Given the description of an element on the screen output the (x, y) to click on. 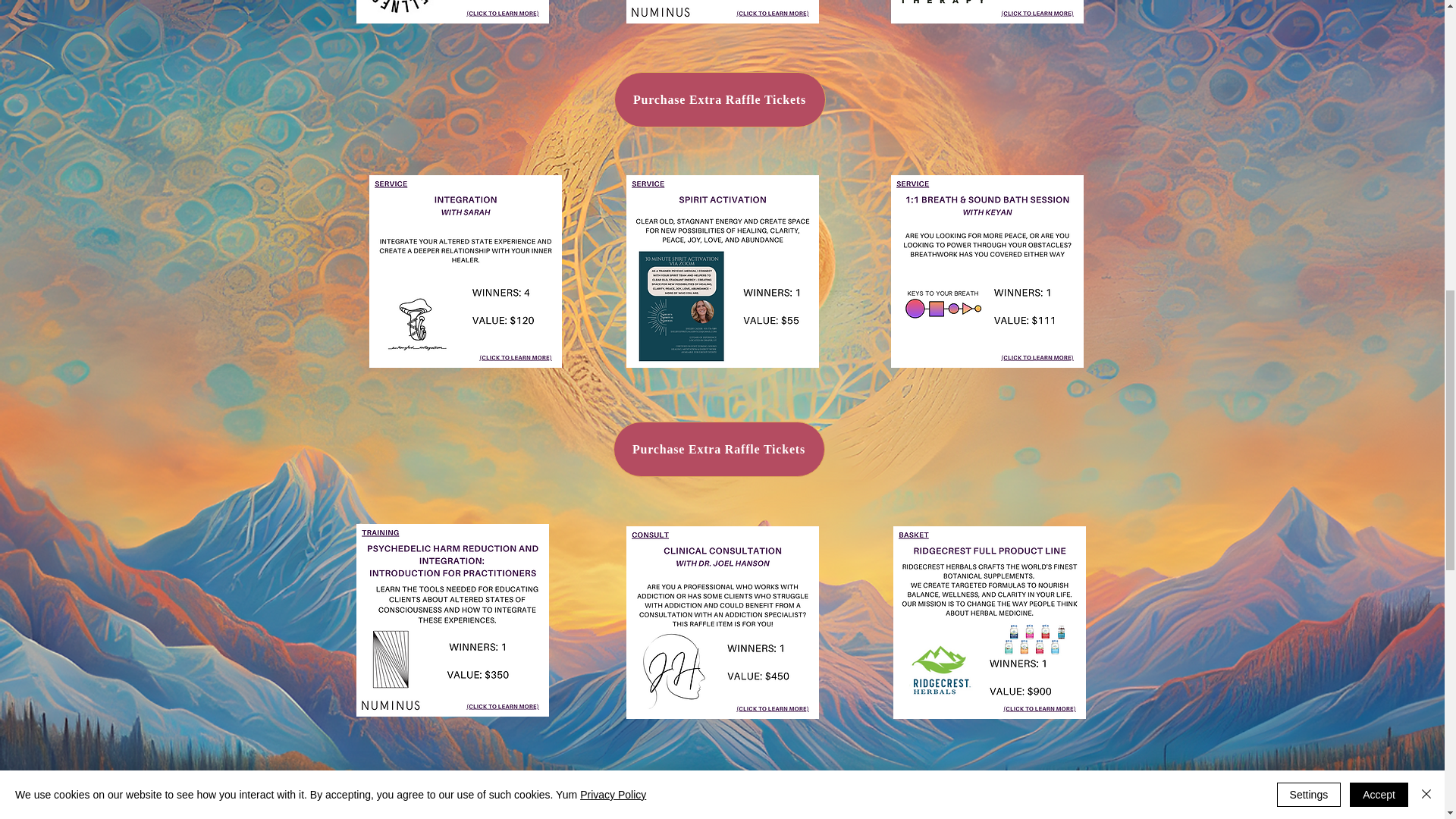
Purchase Extra Raffle Tickets (719, 99)
Purchase Extra Raffle Tickets (718, 448)
